Given the description of an element on the screen output the (x, y) to click on. 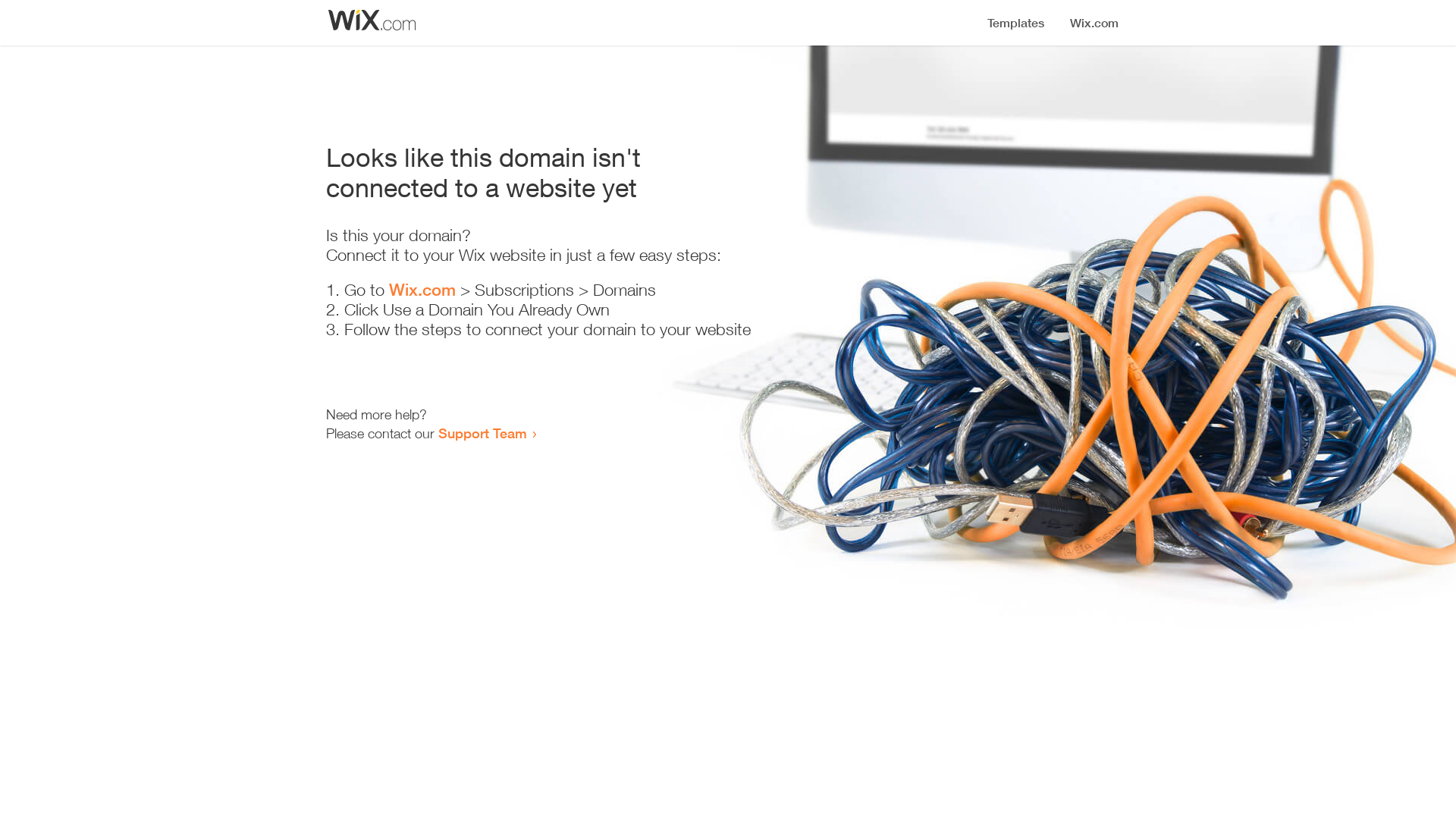
Support Team Element type: text (482, 432)
Wix.com Element type: text (422, 289)
